Given the description of an element on the screen output the (x, y) to click on. 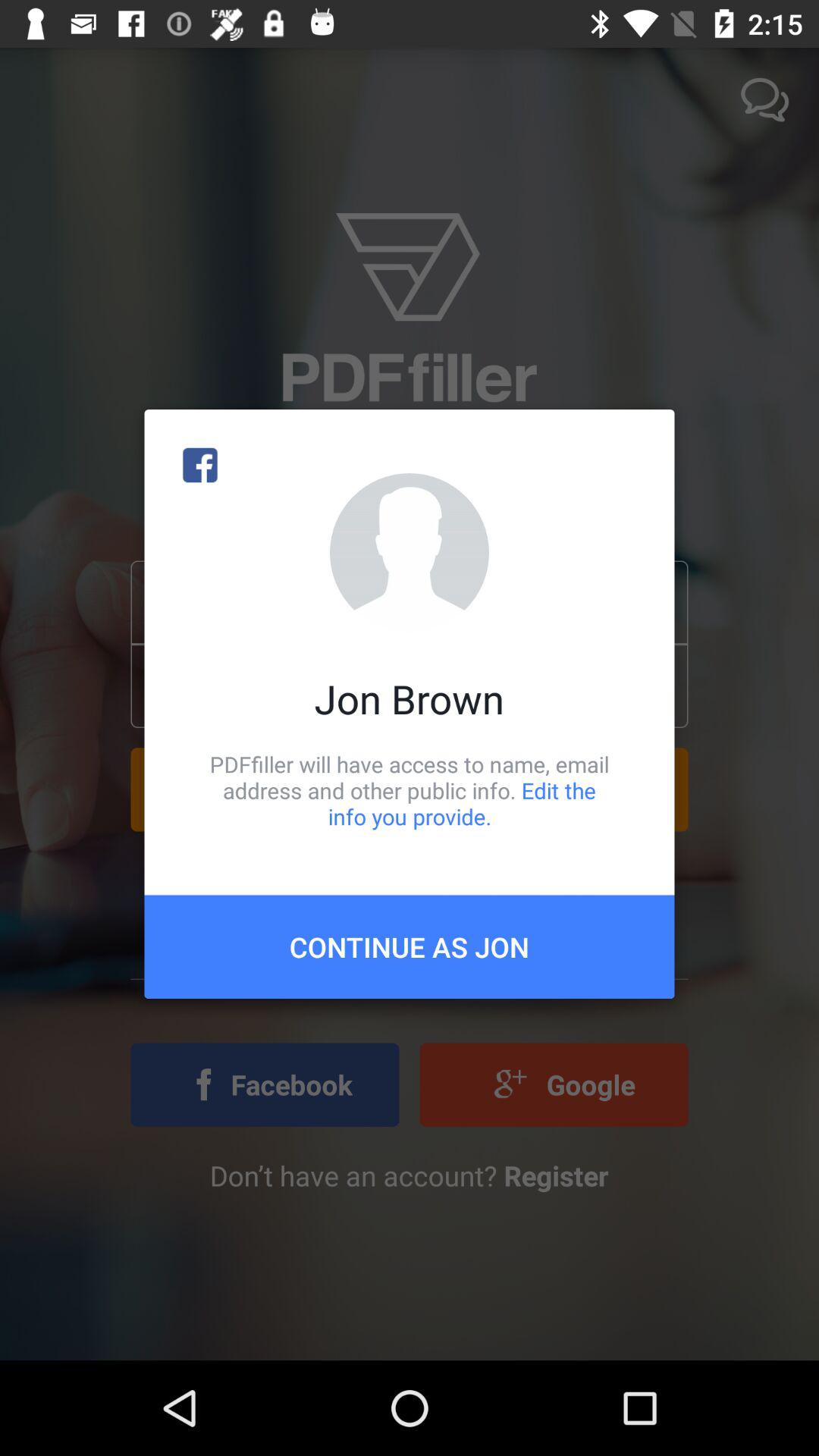
swipe until the continue as jon item (409, 946)
